Given the description of an element on the screen output the (x, y) to click on. 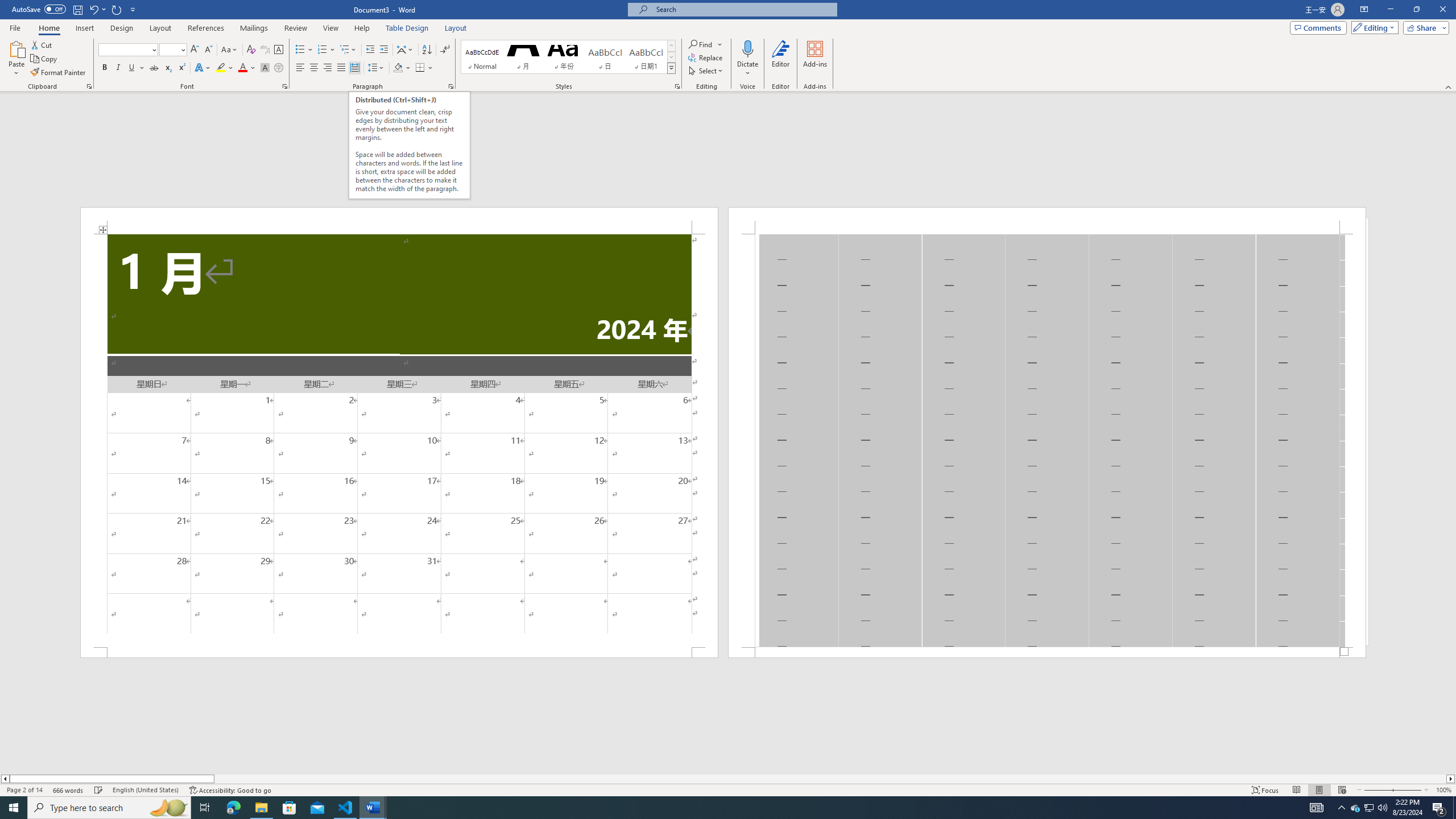
Page 1 content (398, 440)
